Given the description of an element on the screen output the (x, y) to click on. 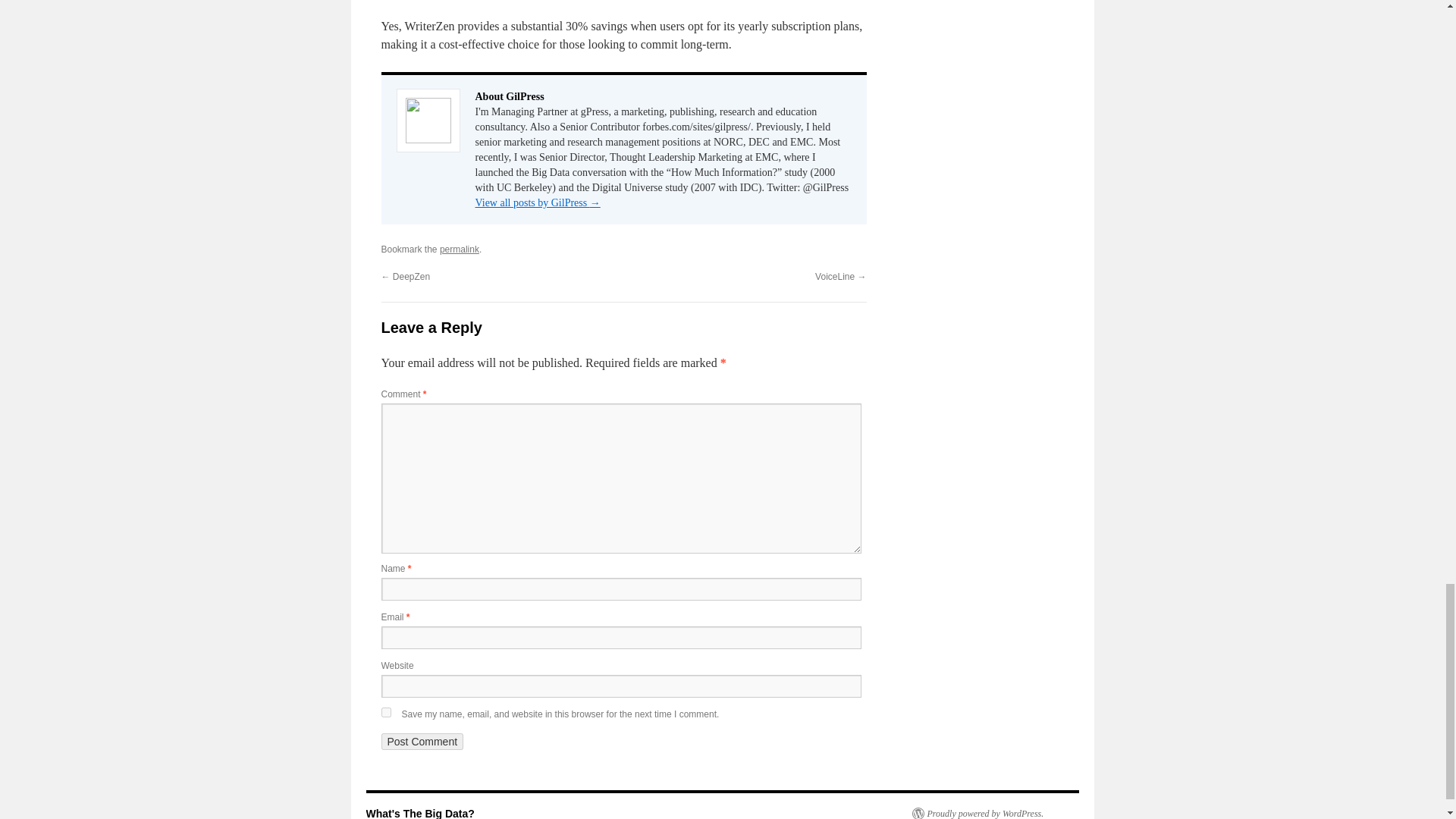
Permalink to WriterZen (459, 249)
permalink (459, 249)
Post Comment (421, 741)
Post Comment (421, 741)
yes (385, 712)
